Given the description of an element on the screen output the (x, y) to click on. 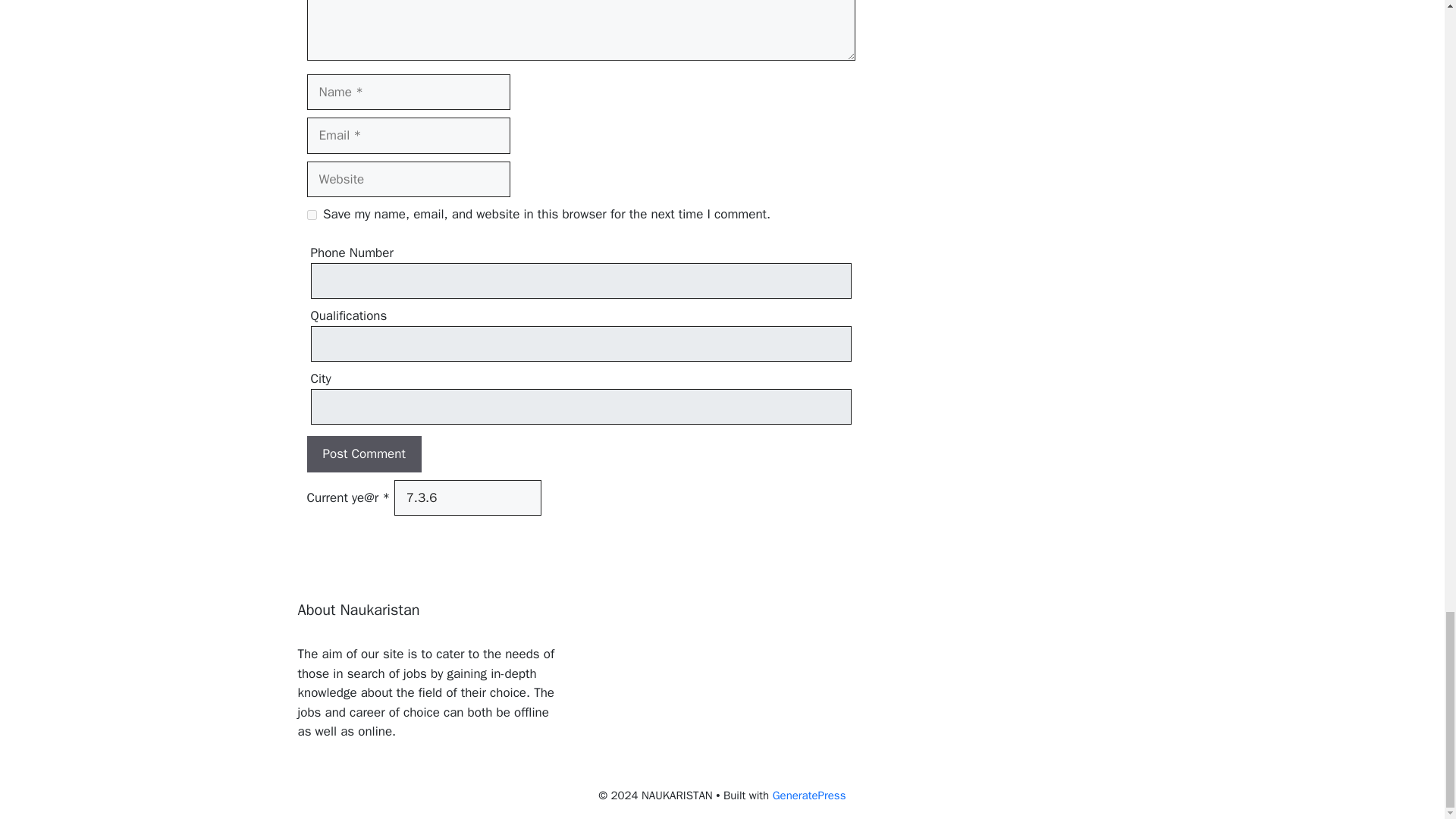
7.3.6 (467, 497)
Post Comment (362, 453)
Post Comment (362, 453)
yes (310, 214)
